Given the description of an element on the screen output the (x, y) to click on. 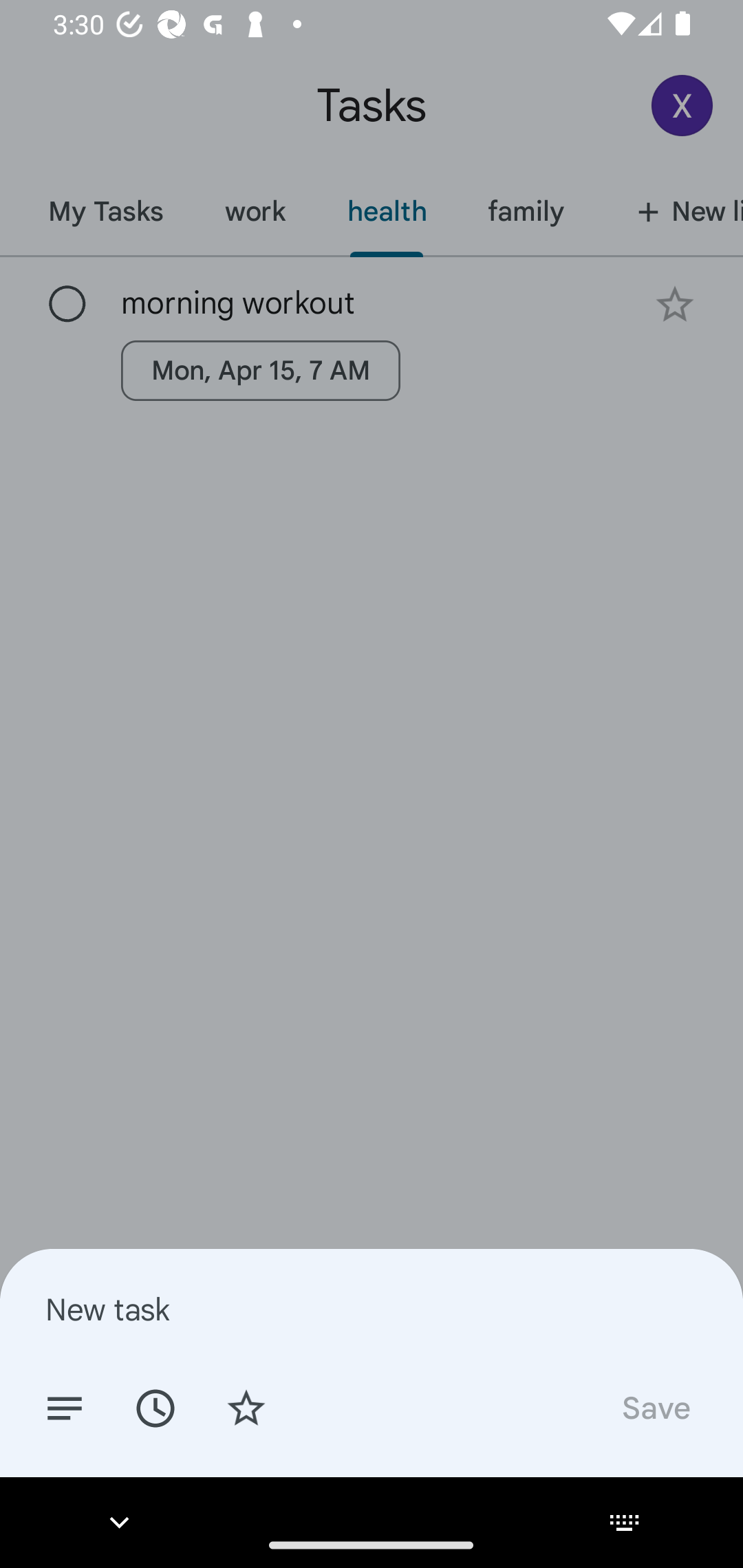
New task (371, 1308)
Save (655, 1407)
Add details (64, 1407)
Set date/time (154, 1407)
Add star (245, 1407)
